Given the description of an element on the screen output the (x, y) to click on. 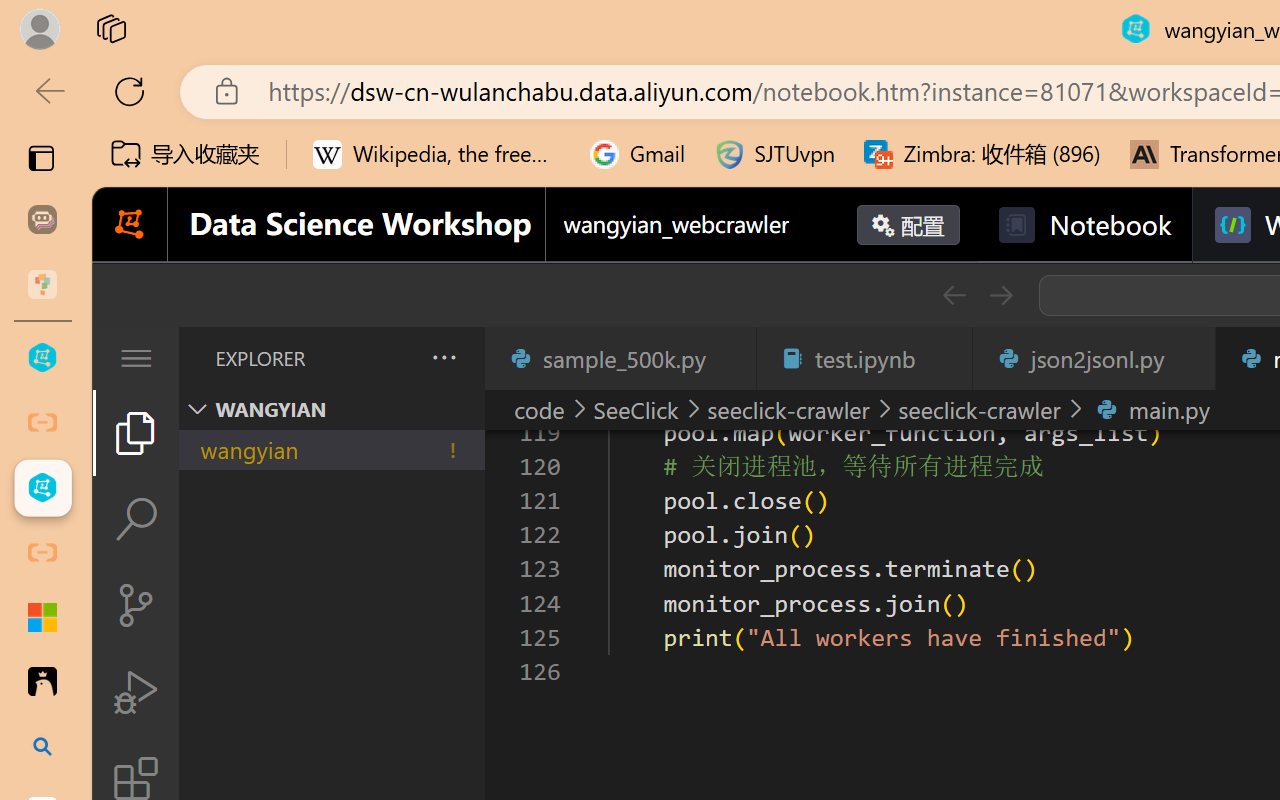
Go Forward (Alt+RightArrow) (1000, 295)
sample_500k.py (619, 358)
wangyian_webcrawler - DSW (42, 487)
Close (Ctrl+F4) (1188, 358)
Notebook (1083, 225)
SJTUvpn (774, 154)
Wikipedia, the free encyclopedia (437, 154)
Gmail (637, 154)
Explorer (Ctrl+Shift+E) (135, 432)
Search (Ctrl+Shift+F) (135, 519)
Explorer Section: wangyian (331, 409)
